Given the description of an element on the screen output the (x, y) to click on. 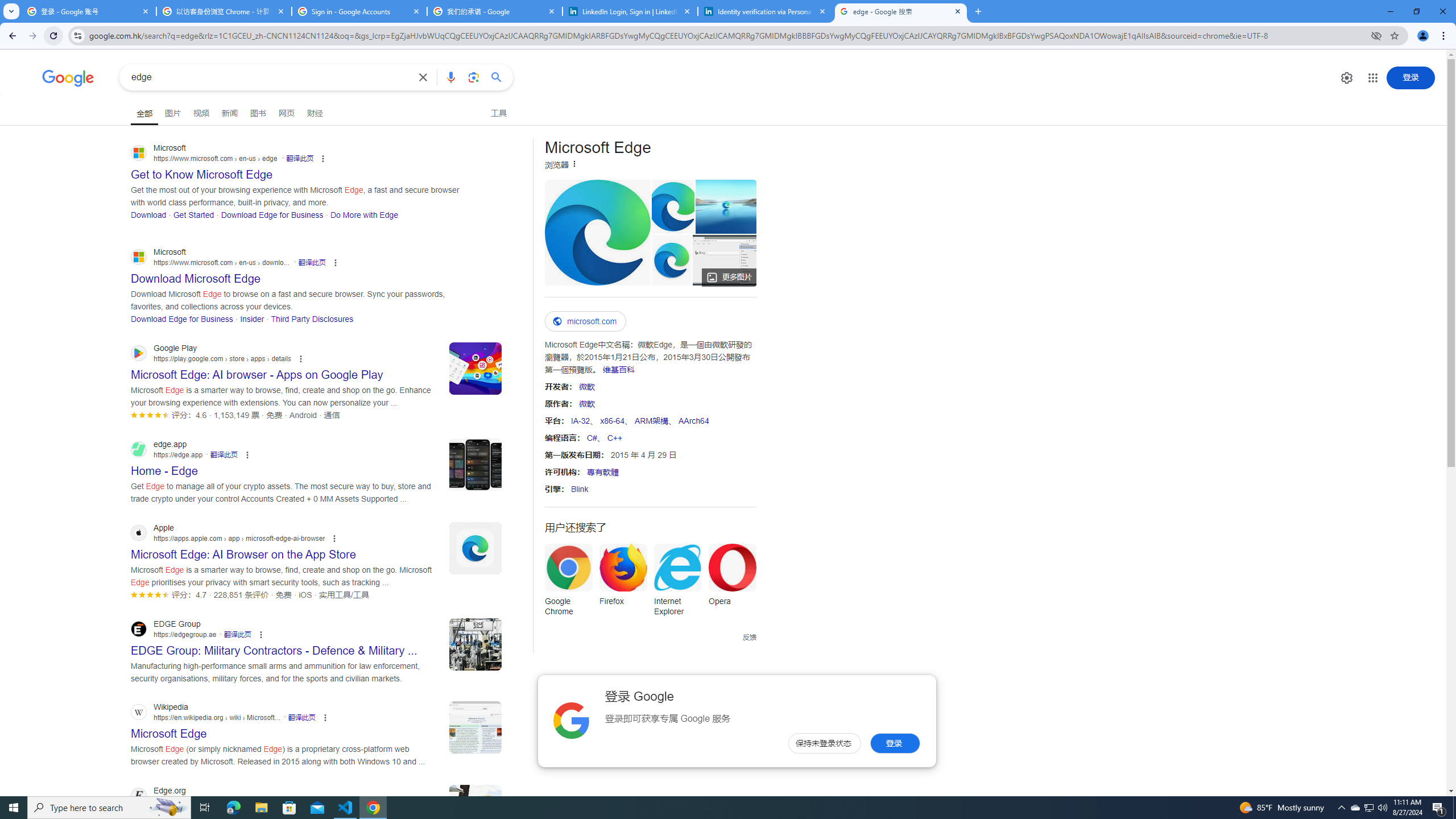
x86-64 (611, 420)
upload.wikimedia.org/wikipedia/commons/9/98/Micros... (597, 232)
Google Chrome (568, 583)
Home - Microsoft Edge Blog (726, 206)
